Given the description of an element on the screen output the (x, y) to click on. 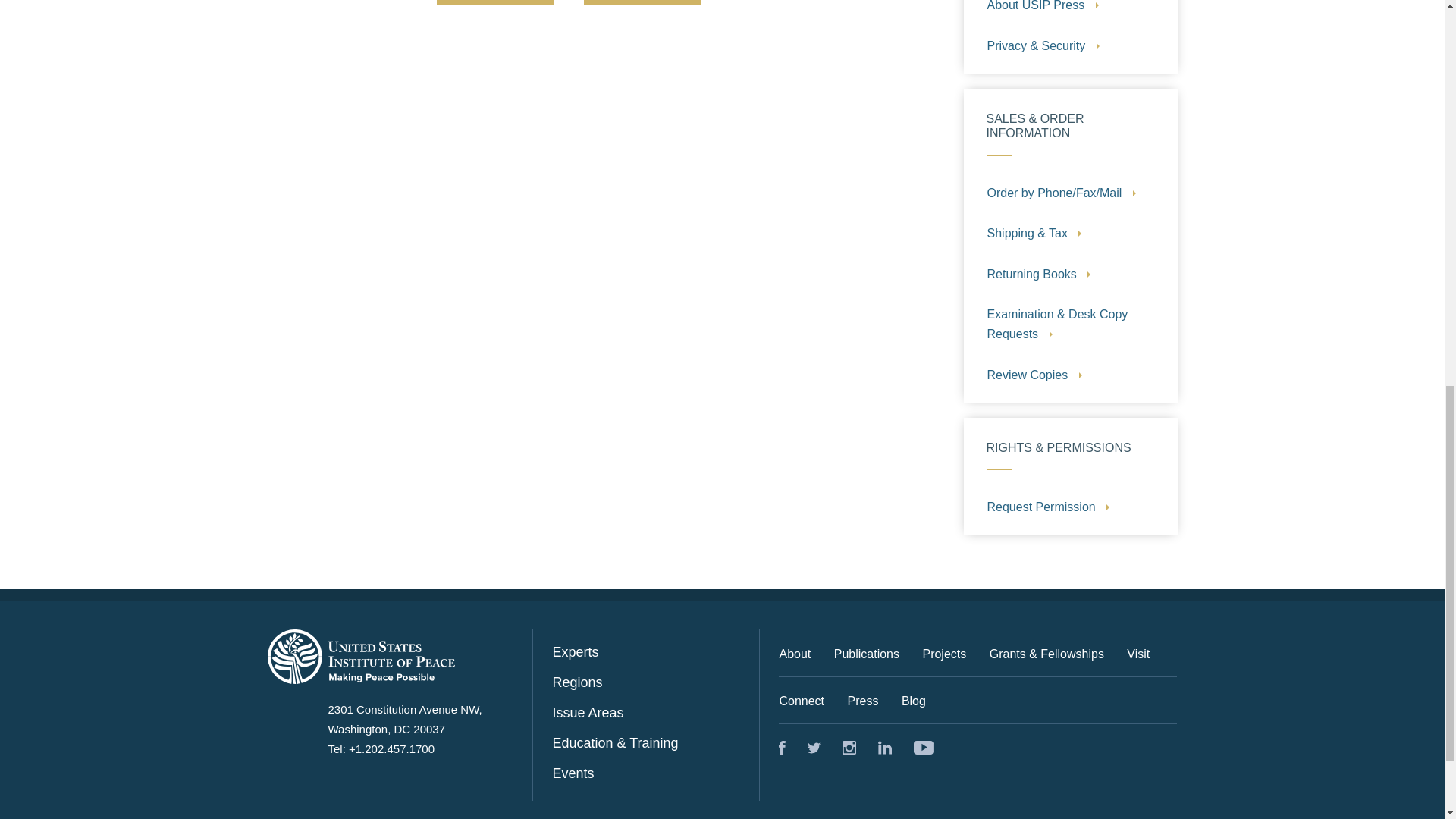
usinstituteofpeace (923, 747)
United States Institute of Peace (884, 747)
